Given the description of an element on the screen output the (x, y) to click on. 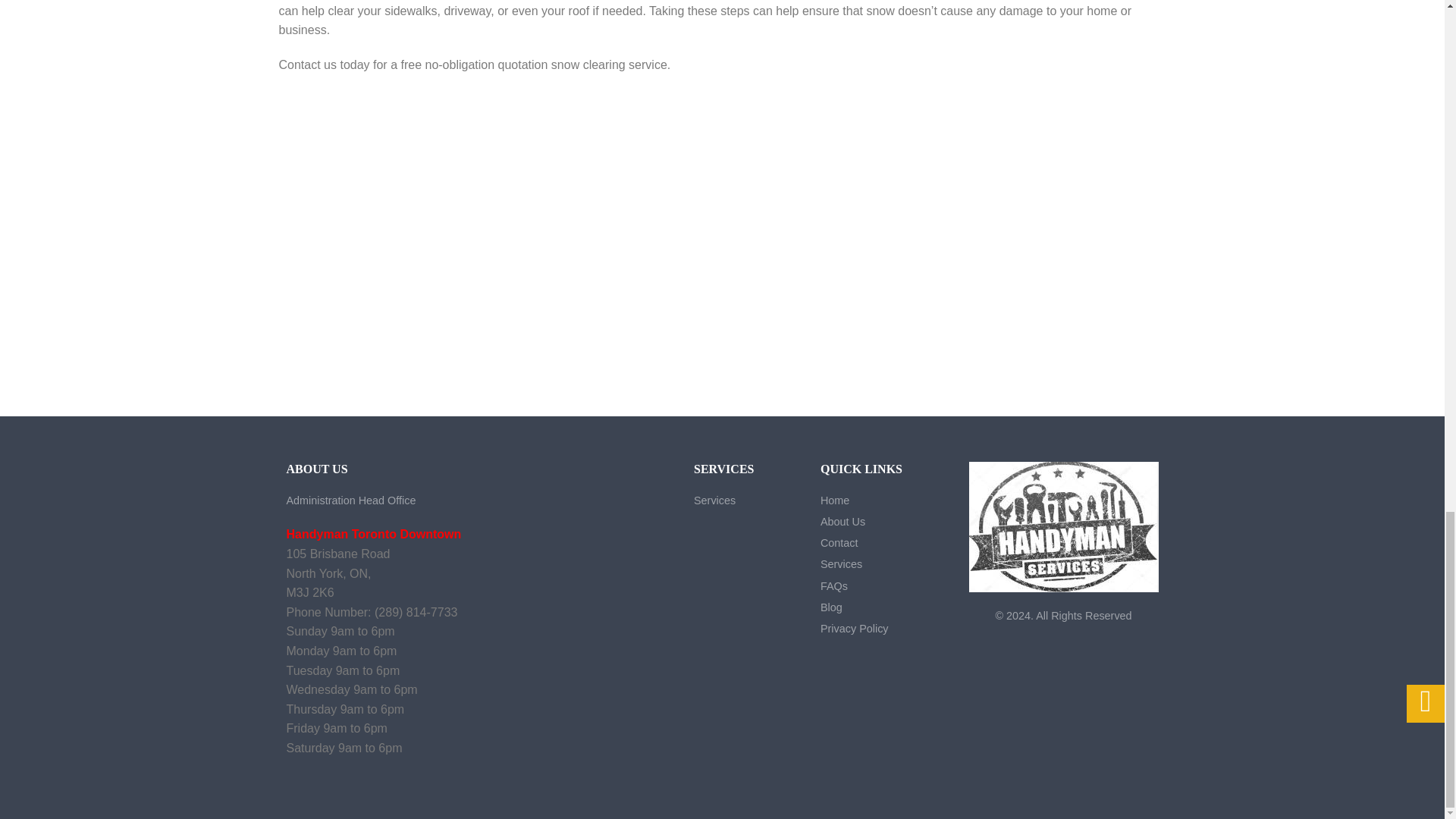
Contact (840, 542)
Services (714, 500)
FAQs (834, 585)
About Us (842, 521)
Privacy Policy (854, 628)
Blog (832, 607)
Handyman Toronto Downtown (373, 533)
Services (841, 563)
Home (834, 500)
